Given the description of an element on the screen output the (x, y) to click on. 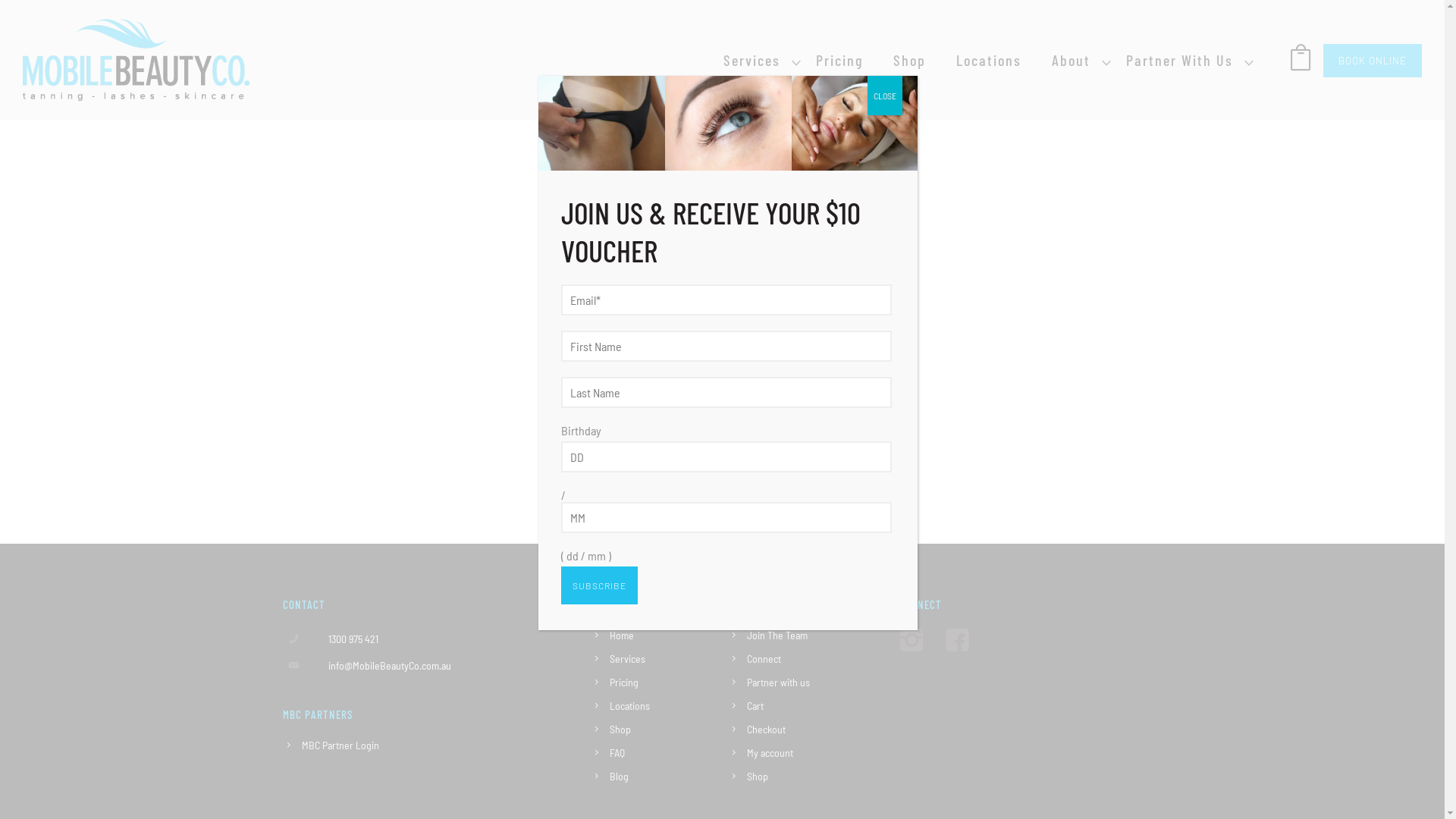
FAQ Element type: text (616, 752)
1300 975 421 Element type: text (352, 638)
About Element type: text (1070, 59)
Partner With Us Element type: text (1179, 59)
Home Element type: text (621, 634)
Shop Element type: text (909, 59)
info@MobileBeautyCo.com.au Element type: text (388, 664)
Services Element type: text (627, 658)
facial_4-3 Element type: hover (854, 122)
Cart Element type: text (754, 705)
Checkout Element type: text (765, 728)
eye_4-3 Element type: hover (728, 122)
Shop Element type: text (619, 728)
Connect Element type: text (763, 658)
Locations Element type: text (988, 59)
MBC Partner Login Element type: text (340, 744)
tan_4-3 Element type: hover (601, 122)
Subscribe Element type: text (599, 585)
Services Element type: text (751, 59)
Pricing Element type: text (839, 59)
BOOK ONLINE Element type: text (1372, 60)
Partner with us Element type: text (777, 681)
Locations Element type: text (629, 705)
Join The Team Element type: text (776, 634)
CLOSE Element type: text (884, 95)
My account Element type: text (769, 752)
Blog Element type: text (618, 775)
Shop Element type: text (756, 775)
Pricing Element type: text (623, 681)
